Given the description of an element on the screen output the (x, y) to click on. 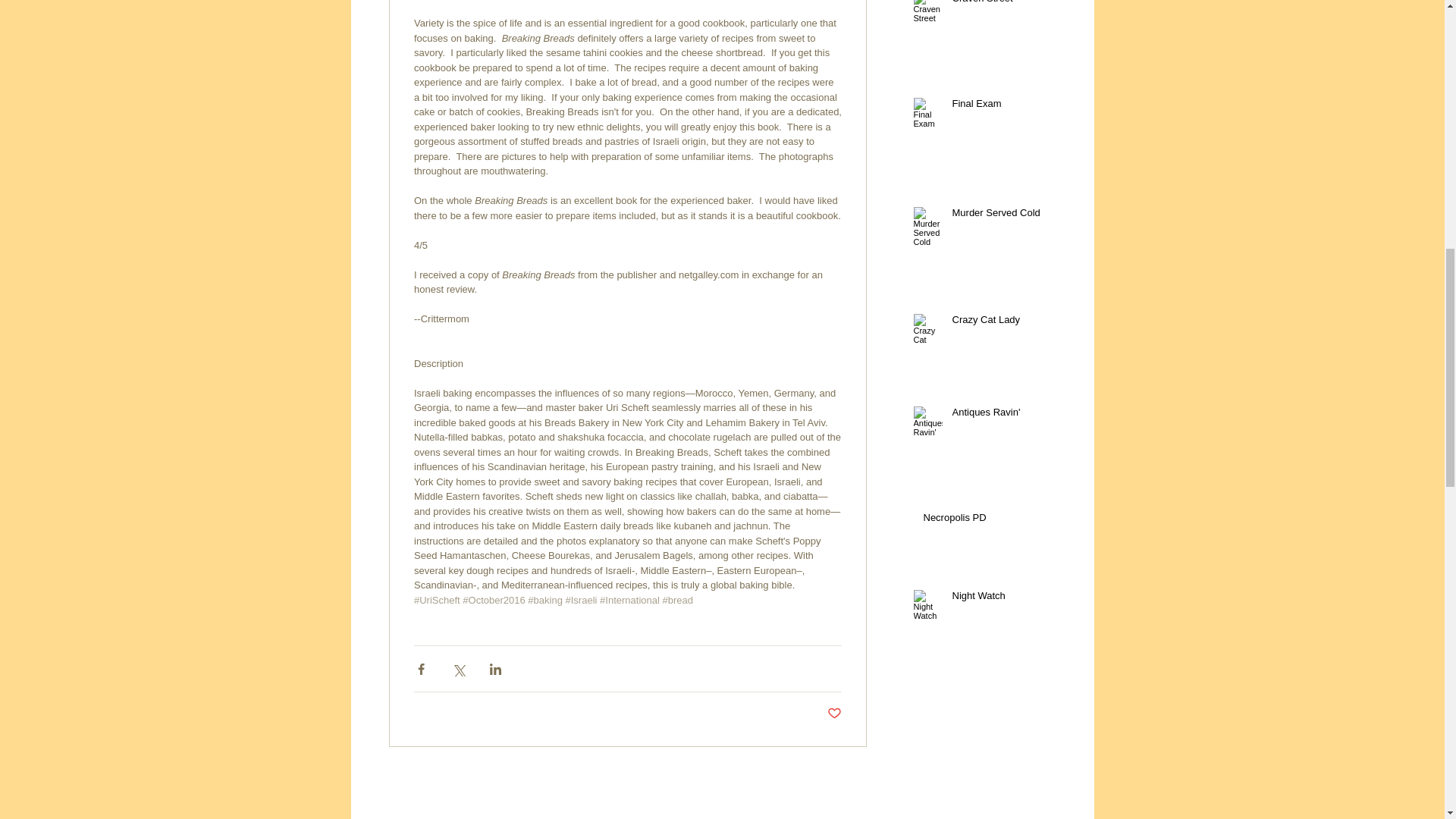
Night Watch (1006, 598)
Antiques Ravin' (1006, 415)
Crazy Cat Lady (1006, 322)
Final Exam (1006, 107)
Murder Served Cold (1006, 216)
Craven Street (1006, 5)
Necropolis PD (992, 520)
Post not marked as liked (834, 713)
